Given the description of an element on the screen output the (x, y) to click on. 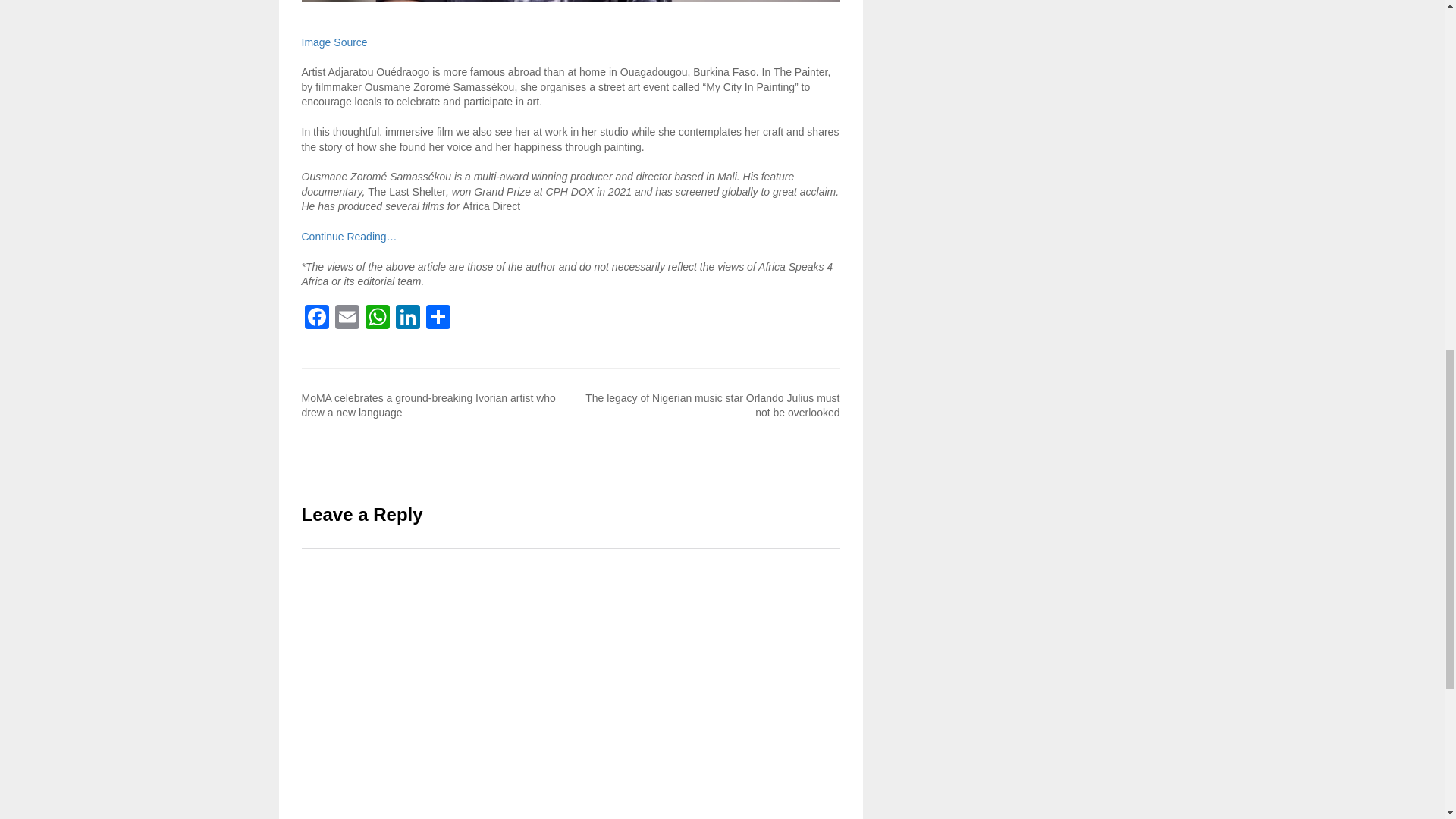
LinkedIn (408, 318)
Facebook (316, 318)
Share (437, 318)
WhatsApp (377, 318)
Email (346, 318)
Image Source (334, 42)
